Given the description of an element on the screen output the (x, y) to click on. 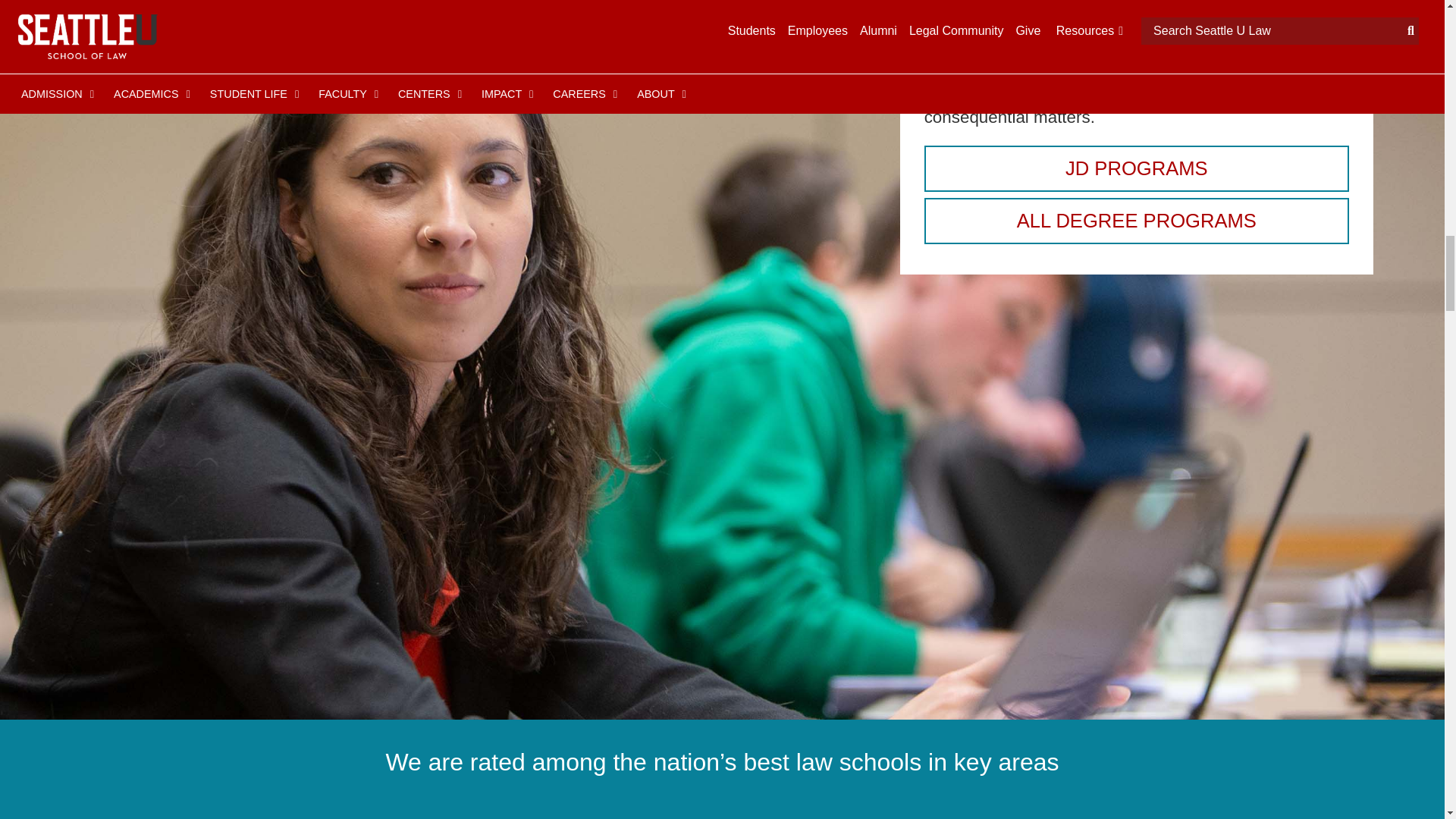
JD Program (1137, 168)
Degree Programs (1137, 220)
